Given the description of an element on the screen output the (x, y) to click on. 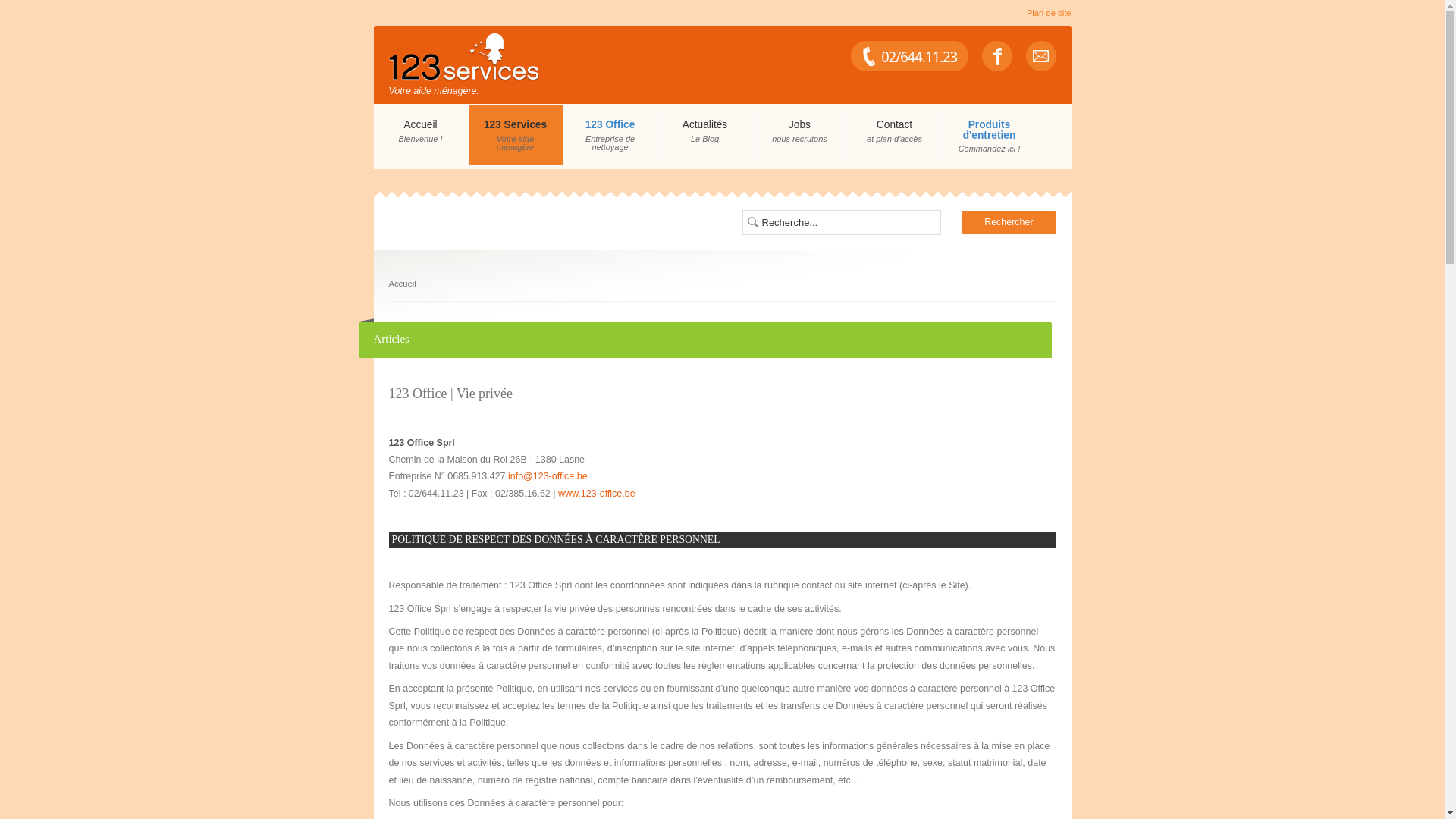
Plan de site Element type: text (1048, 12)
Rechercher Element type: text (1008, 222)
info@123-office.be Element type: text (547, 475)
Produits d'entretien
Commandez ici ! Element type: text (988, 134)
123 Office
Entreprise de nettoyage Element type: text (609, 134)
facebook.png Element type: hover (996, 55)
Accueil
Bienvenue ! Element type: text (420, 134)
www.123-office.be Element type: text (596, 493)
email.png Element type: hover (1040, 55)
123-services_telephone2.png Element type: hover (909, 55)
Jobs
nous recrutons Element type: text (799, 134)
